Given the description of an element on the screen output the (x, y) to click on. 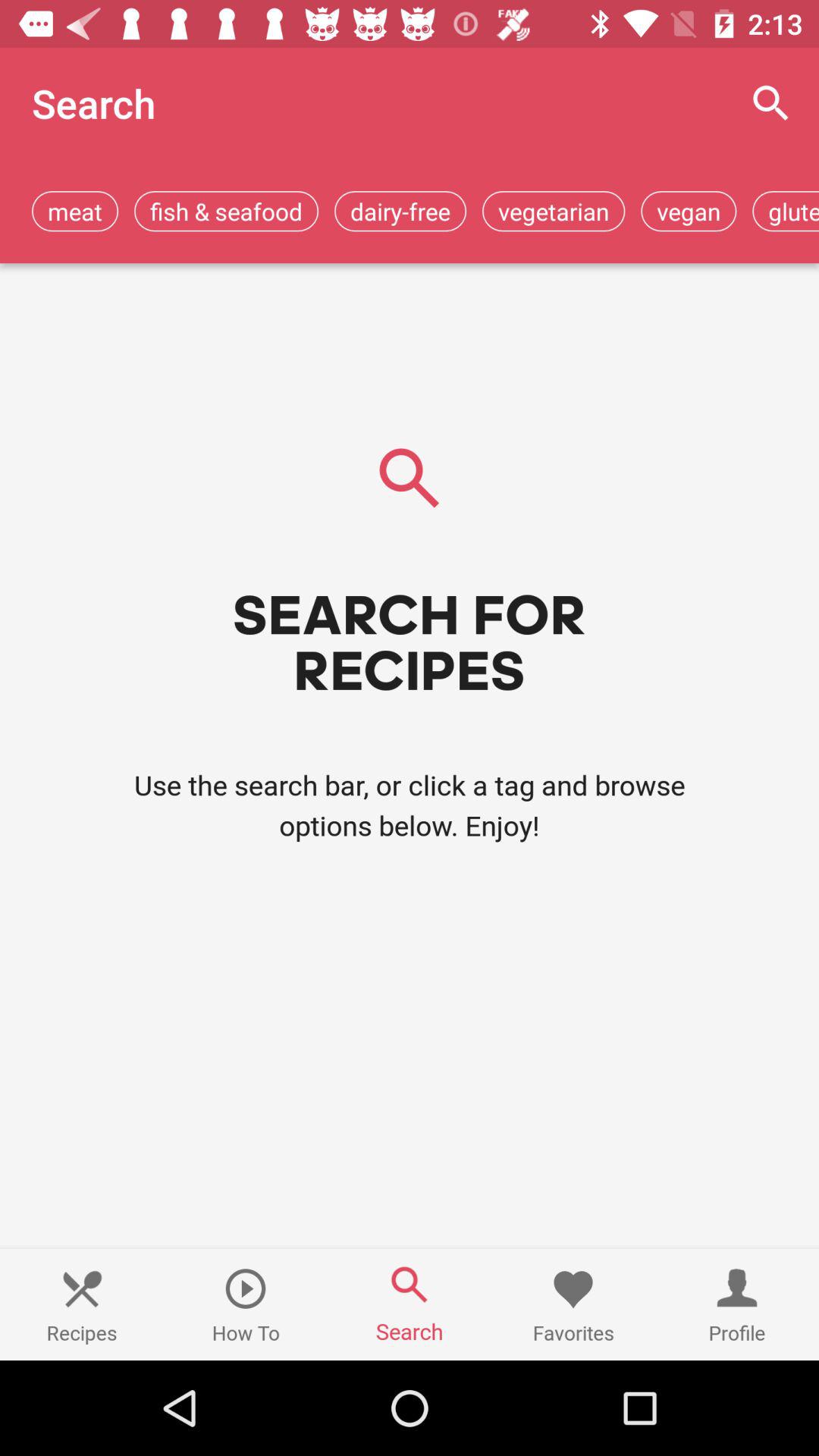
turn off vegetarian (553, 211)
